Given the description of an element on the screen output the (x, y) to click on. 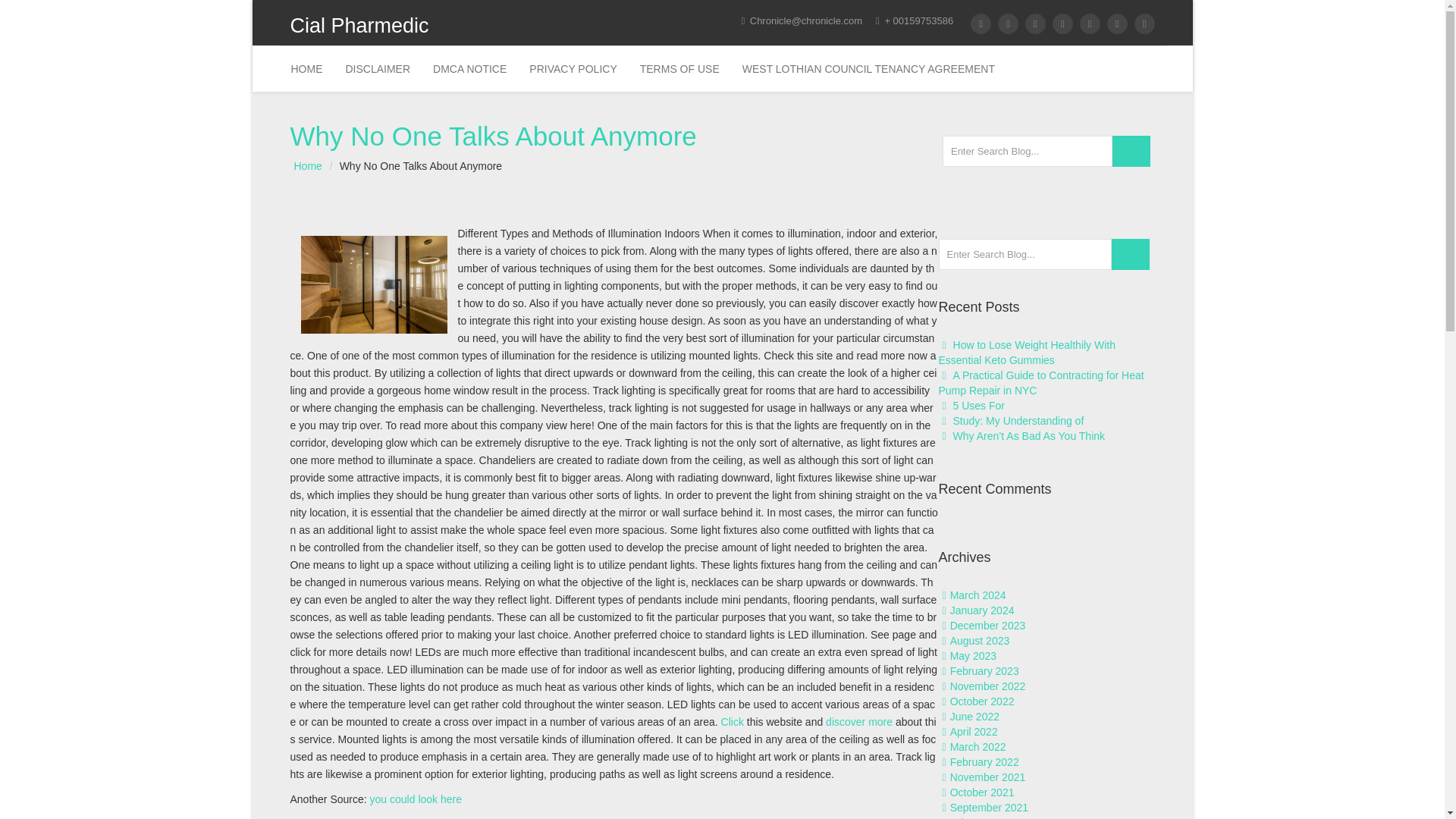
November 2022 (988, 686)
May 2023 (972, 655)
DISCLAIMER (377, 68)
October 2022 (982, 701)
WEST LOTHIAN COUNCIL TENANCY AGREEMENT (868, 68)
How to Lose Weight Healthily With Essential Keto Gummies (1027, 352)
Enter Search Blog... (1027, 151)
HOME (306, 68)
June 2022 (974, 716)
Search (1131, 151)
